Given the description of an element on the screen output the (x, y) to click on. 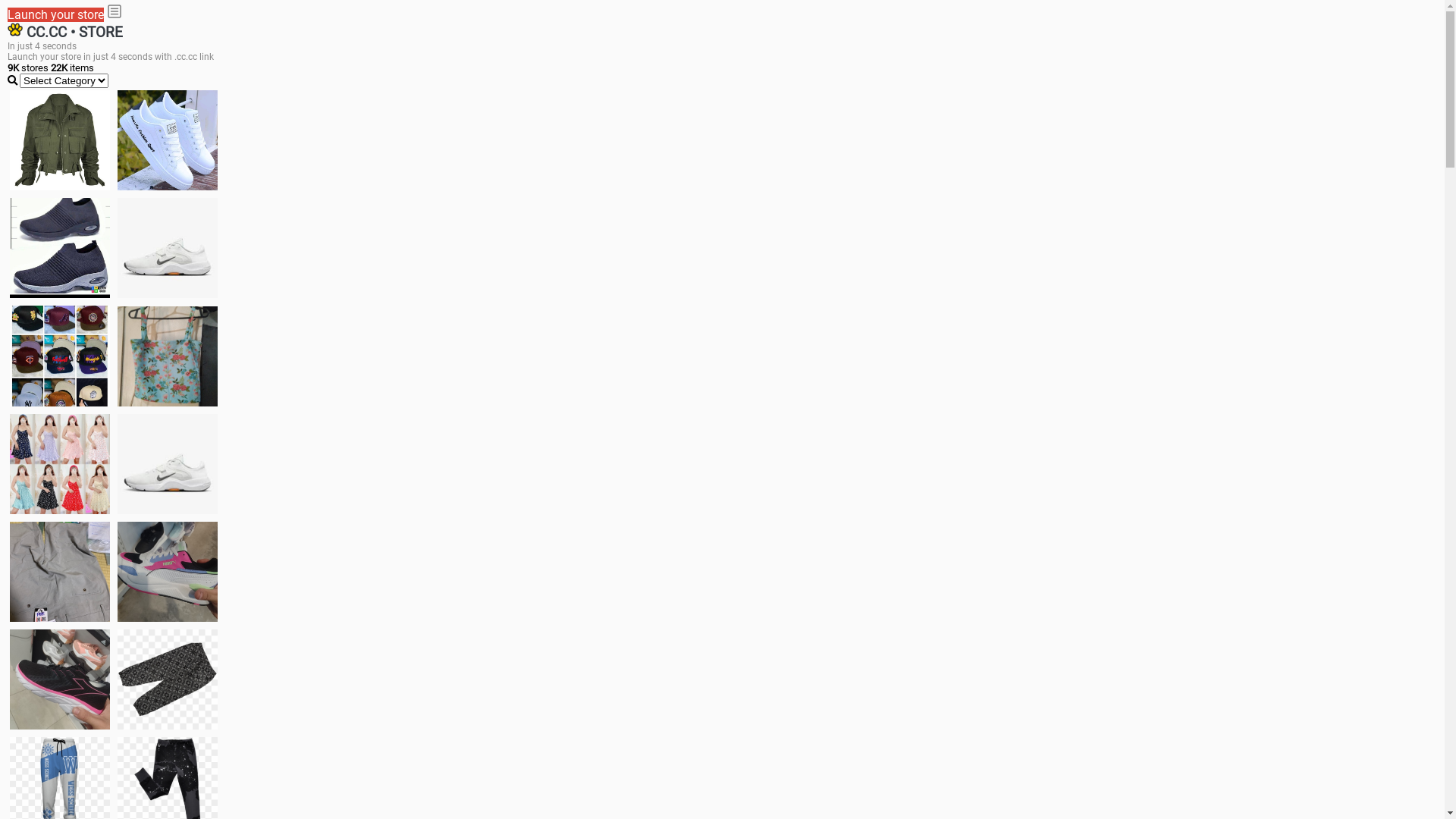
white shoes Element type: hover (167, 140)
Zapatillas Element type: hover (59, 679)
jacket Element type: hover (59, 140)
Ukay cloth Element type: hover (167, 356)
Dress/square nect top Element type: hover (59, 464)
Shoes for boys Element type: hover (167, 247)
Launch your store Element type: text (55, 14)
Zapatillas pumas Element type: hover (167, 571)
Shoes Element type: hover (167, 464)
Things we need Element type: hover (59, 355)
shoes for boys Element type: hover (59, 247)
Short pant Element type: hover (167, 679)
